Given the description of an element on the screen output the (x, y) to click on. 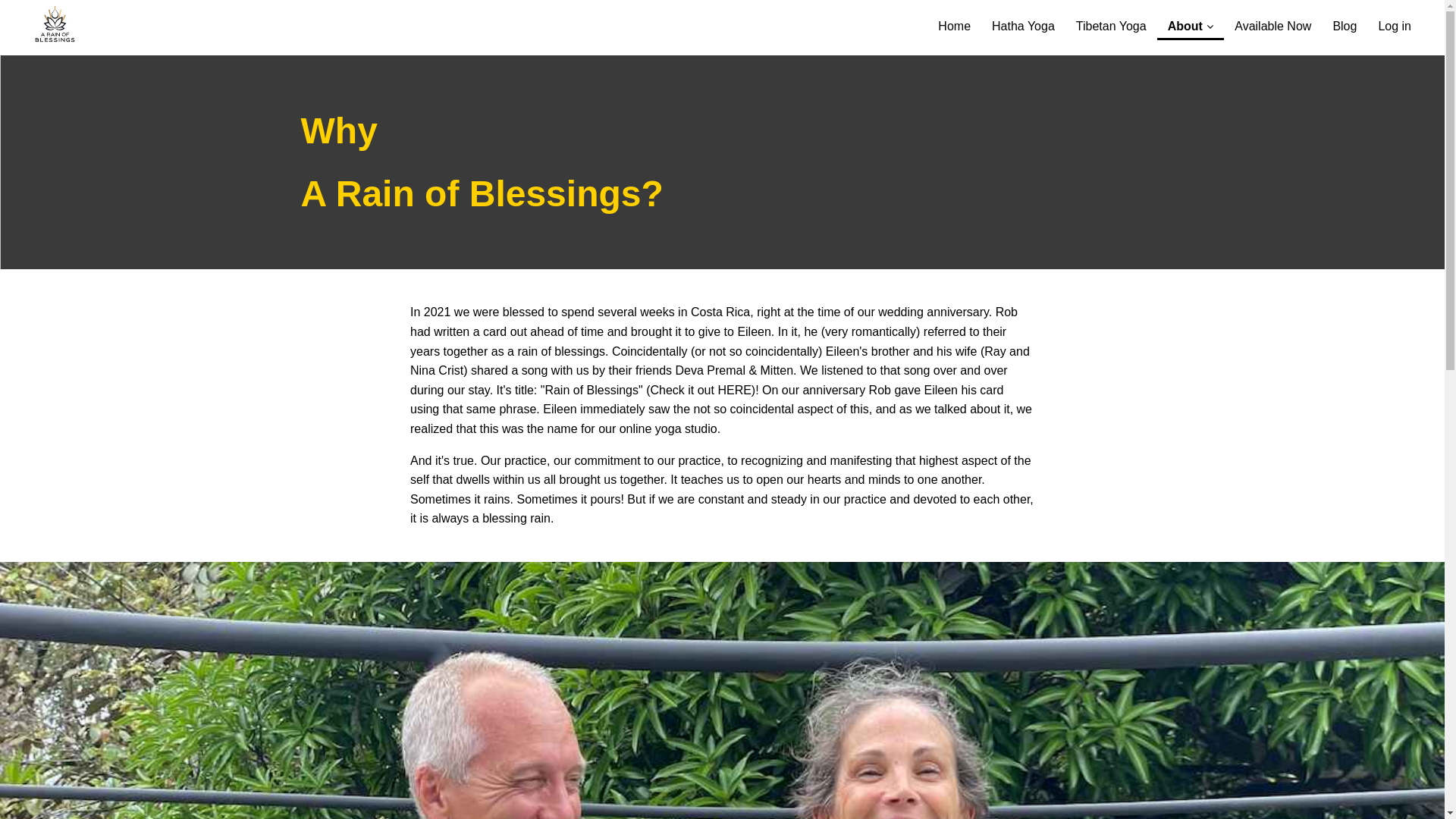
Home (954, 20)
About (1190, 20)
Available Now (1273, 20)
Hatha Yoga (1023, 20)
Blog (1344, 20)
HERE (734, 390)
Tibetan Yoga (1111, 20)
Music Video (734, 390)
Log in (1394, 20)
